Given the description of an element on the screen output the (x, y) to click on. 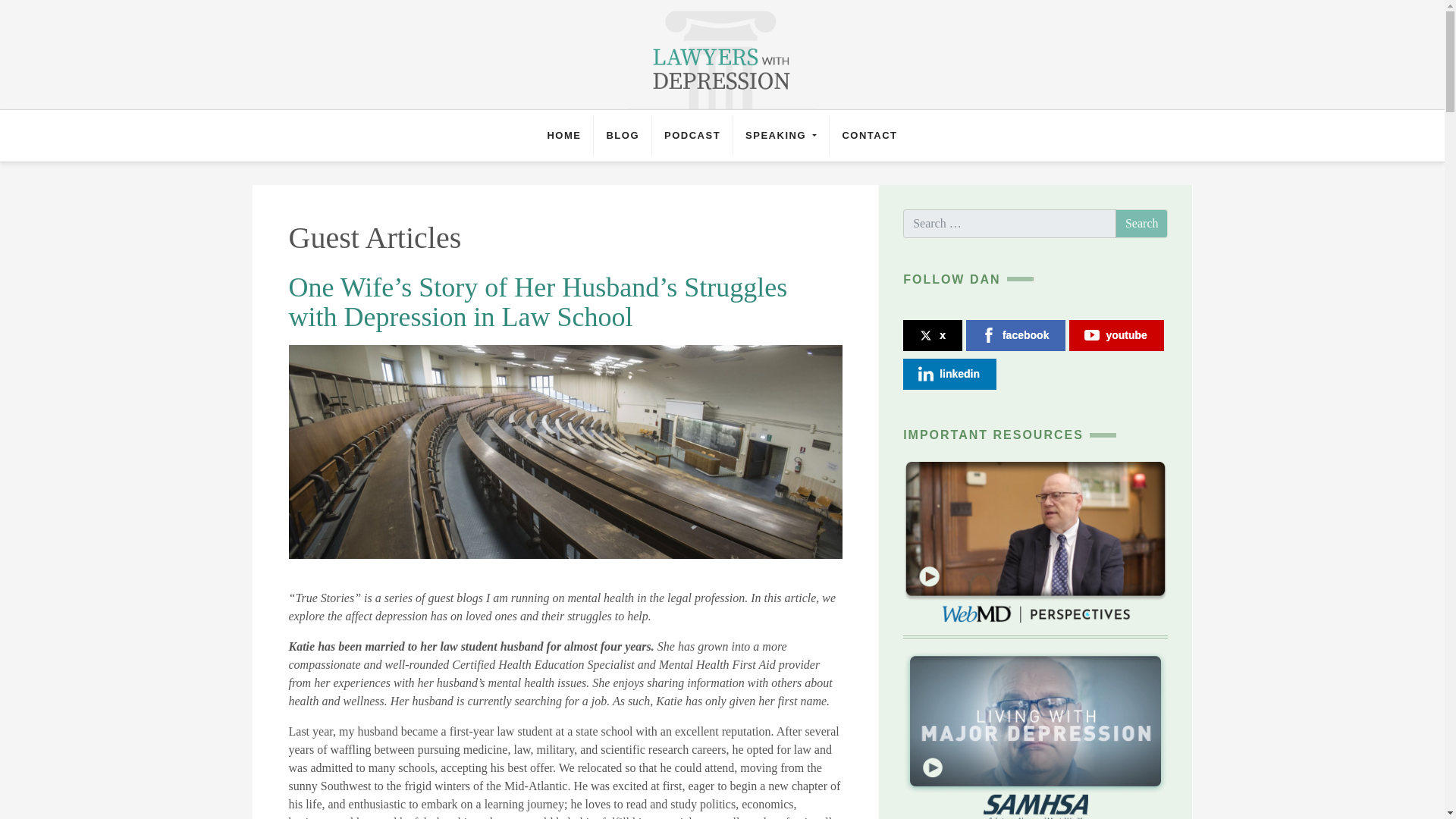
Podcast (692, 135)
CONTACT (868, 135)
Contact (868, 135)
HOME (563, 135)
PODCAST (692, 135)
Blog (622, 135)
Search (1142, 223)
Lawyers With Depression (721, 52)
Speaking (780, 135)
BLOG (622, 135)
Home (563, 135)
SPEAKING (780, 135)
